Given the description of an element on the screen output the (x, y) to click on. 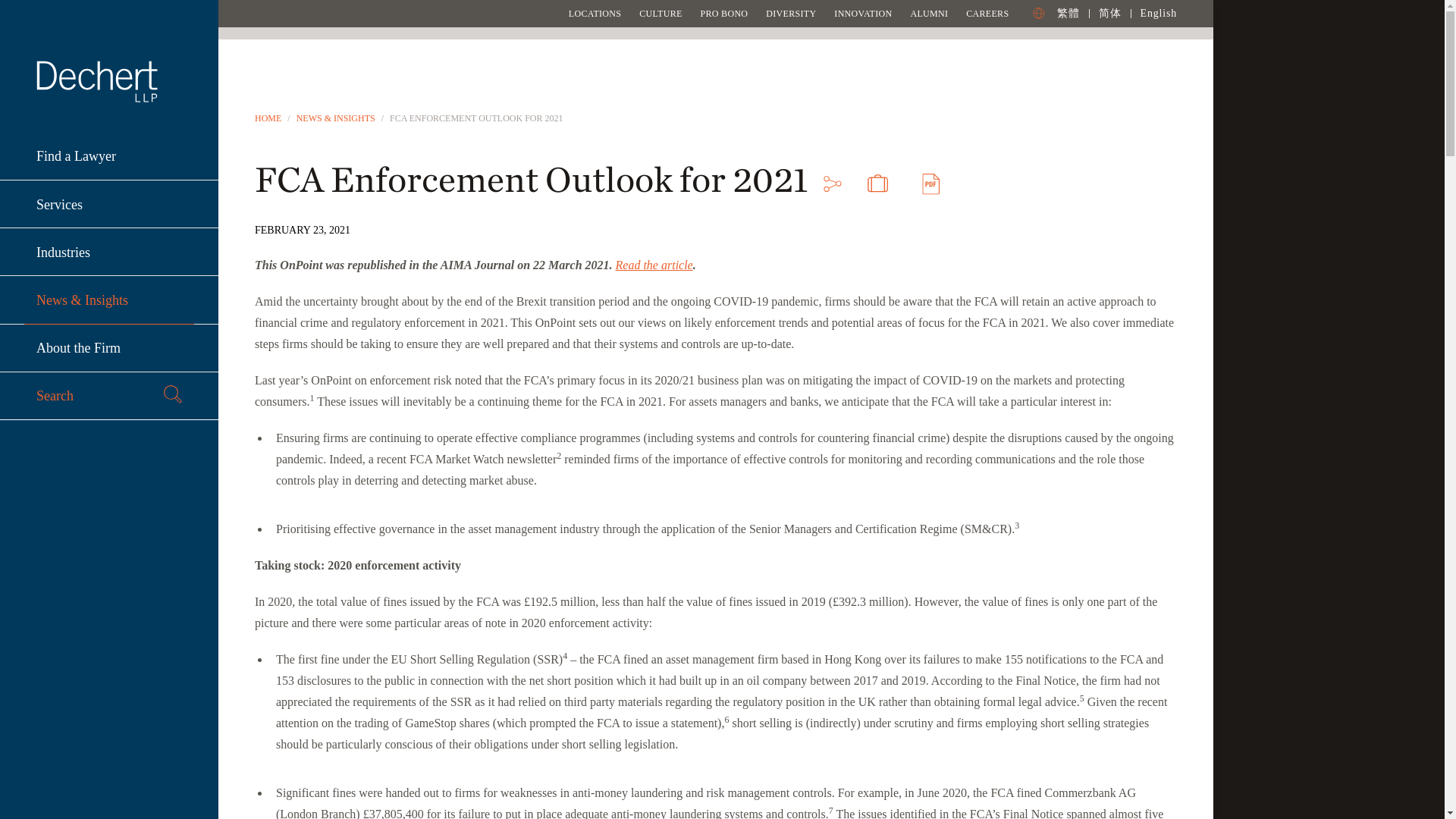
CAREERS (987, 13)
ALUMNI (928, 13)
Find a Lawyer (108, 156)
LOCATIONS (595, 13)
CULTURE (660, 13)
English (1158, 12)
INNOVATION (862, 13)
Search (108, 396)
HOME (267, 118)
Traditional Chinese (1068, 12)
